Given the description of an element on the screen output the (x, y) to click on. 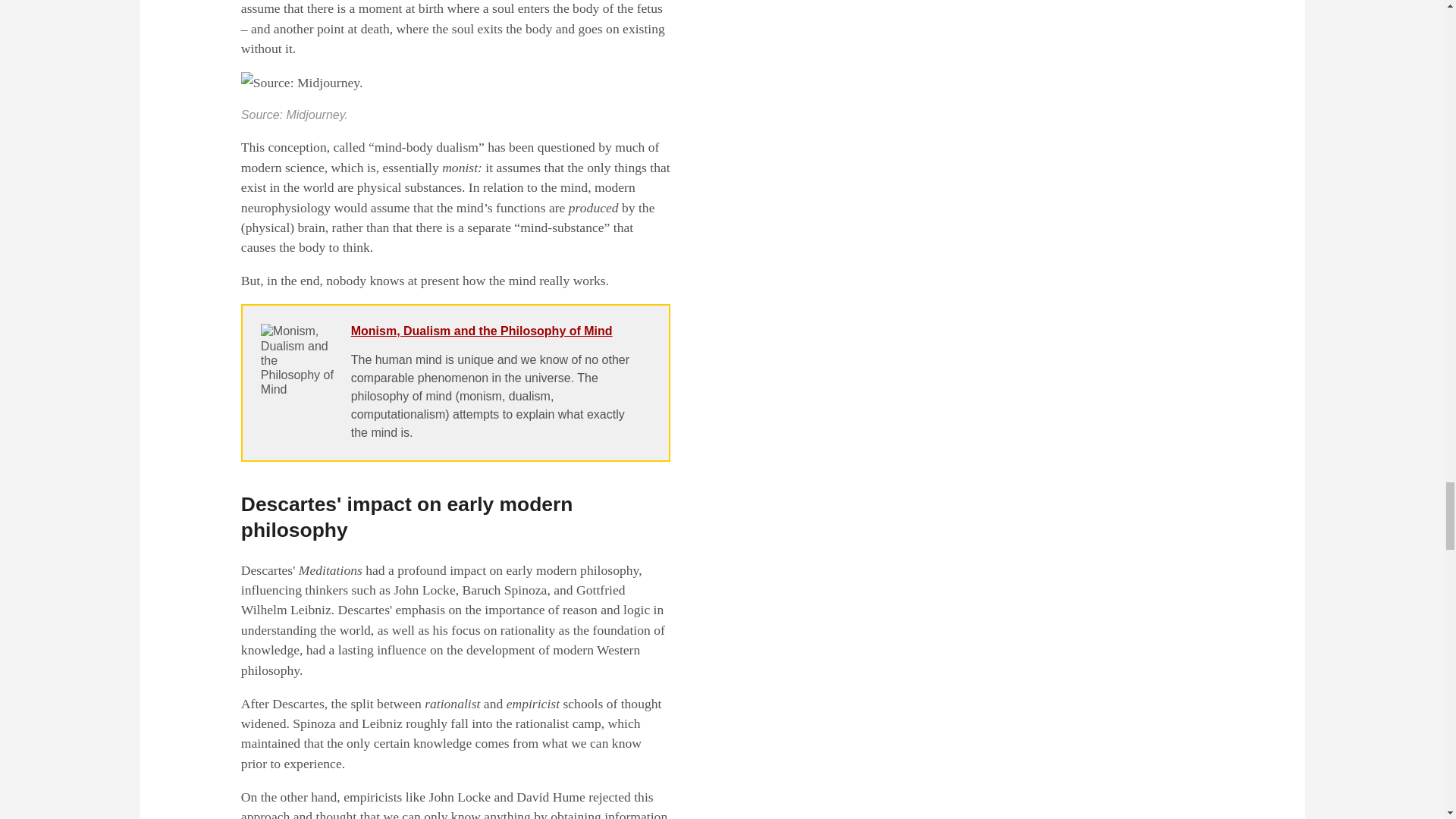
Monism, Dualism and the Philosophy of Mind (481, 330)
